Given the description of an element on the screen output the (x, y) to click on. 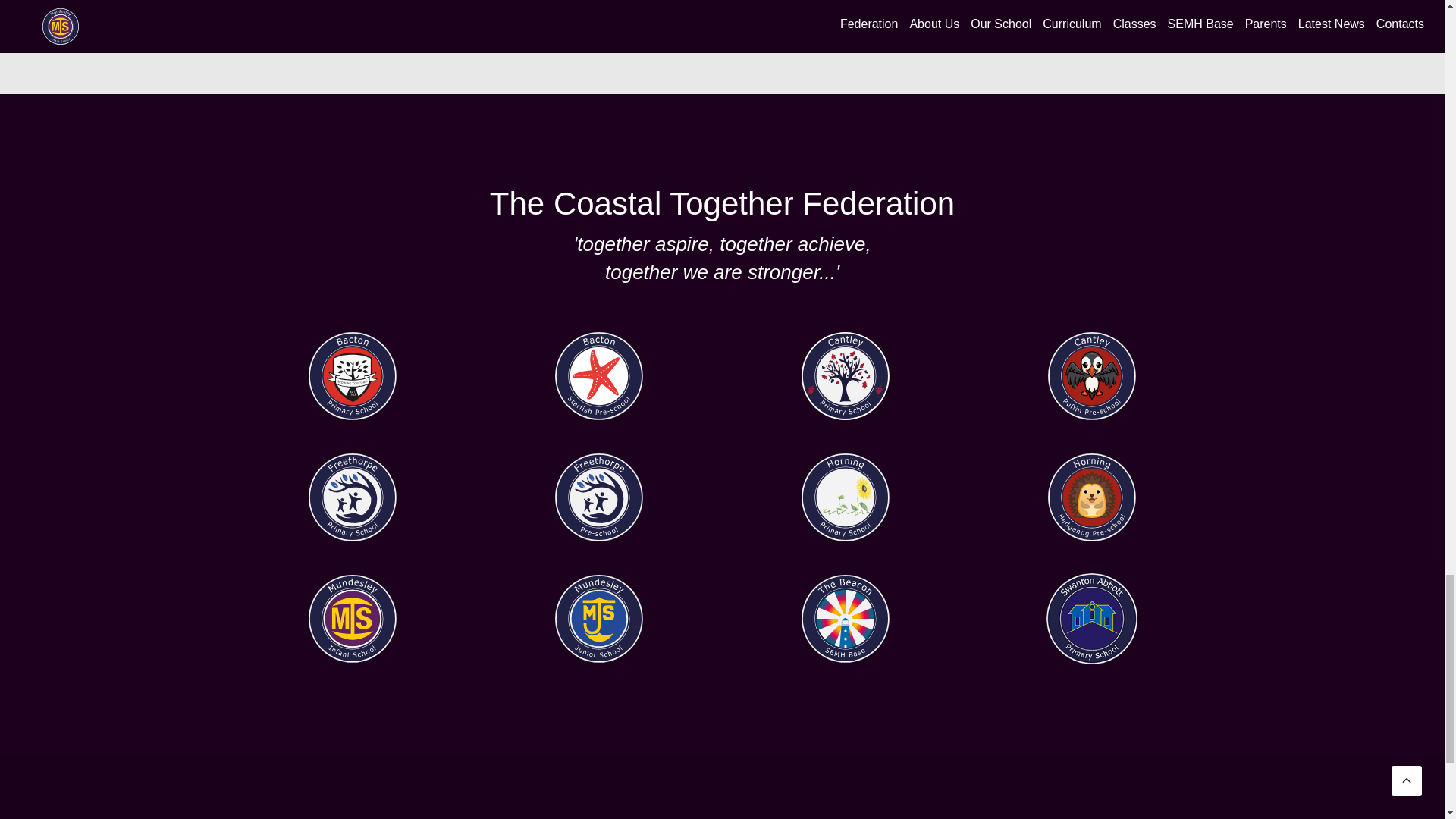
The Coastal Together Federation (722, 203)
IMG 5793 (599, 375)
Cantley (845, 375)
The Coastal Together Federation (722, 203)
Cantley Puffin PreSchool (1091, 375)
IMG 5766 1 (352, 375)
